Given the description of an element on the screen output the (x, y) to click on. 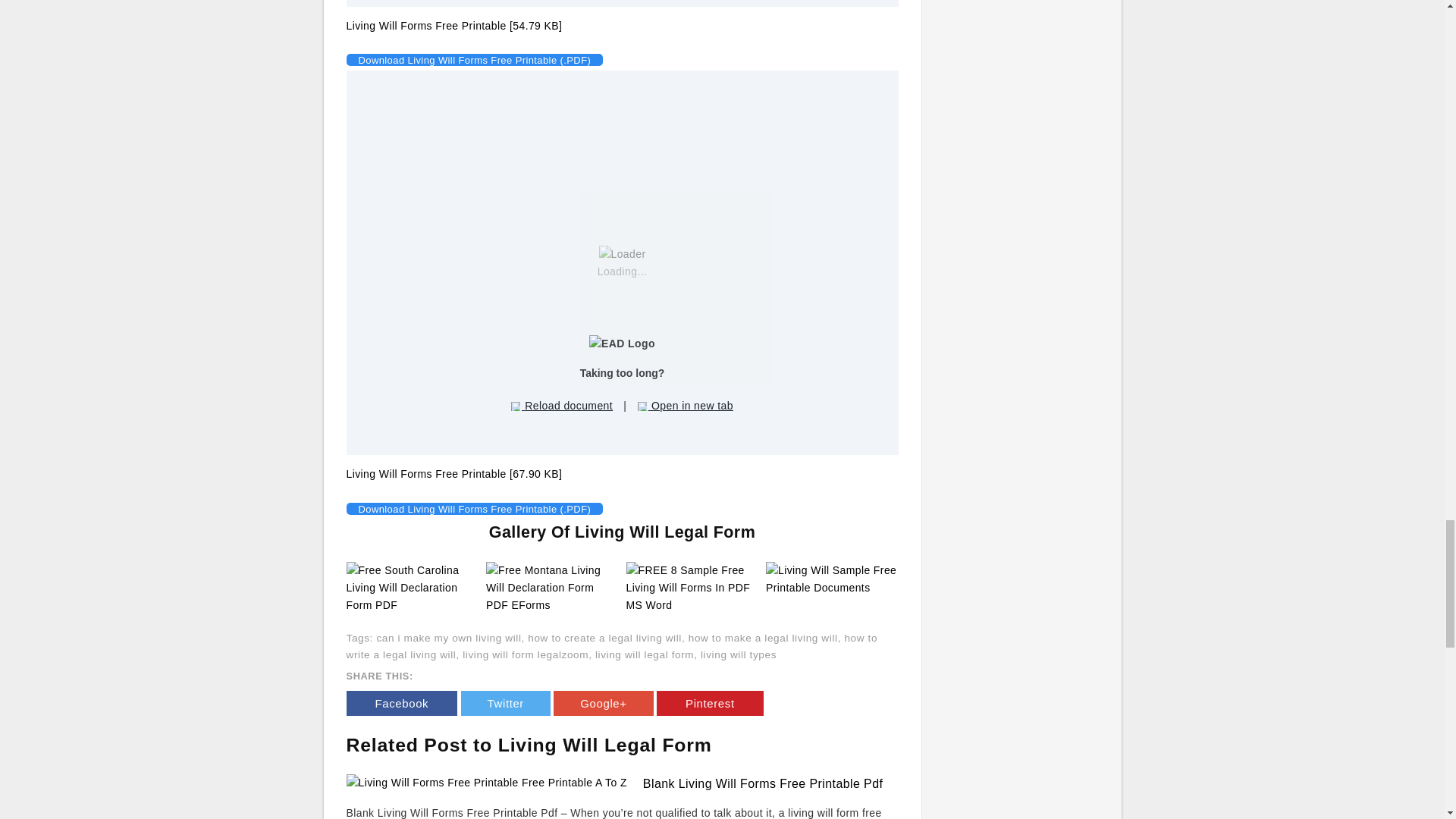
how to create a legal living will (604, 637)
can i make my own living will (448, 637)
how to write a legal living will (611, 646)
living will form legalzoom (525, 654)
Open in new tab (685, 405)
how to make a legal living will (763, 637)
